Given the description of an element on the screen output the (x, y) to click on. 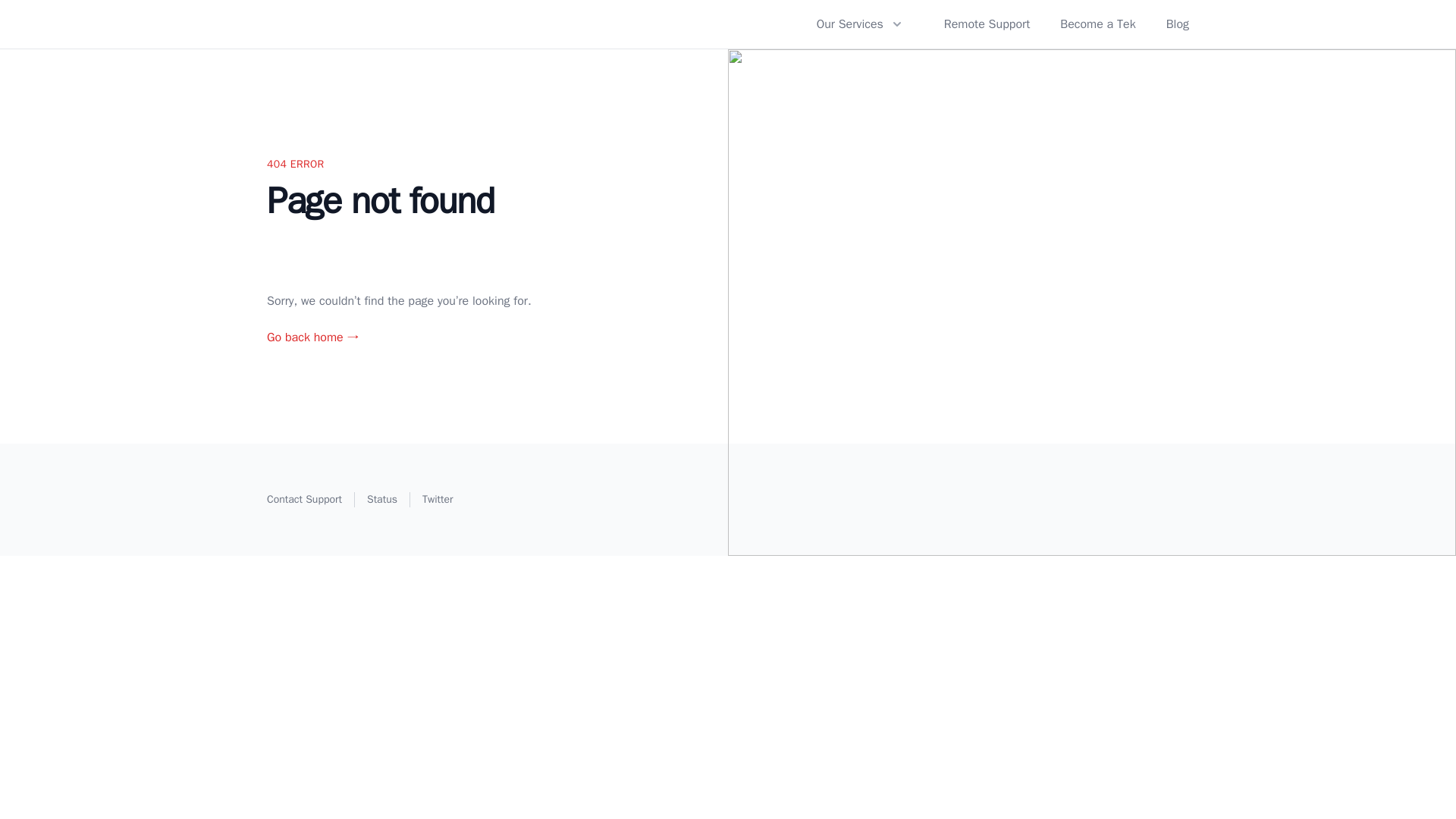
Contact Support (304, 499)
Our Services (861, 24)
Twitter (437, 499)
Become a Tek (1097, 24)
Blog (1177, 24)
Status (381, 499)
Remote Support (986, 24)
